Given the description of an element on the screen output the (x, y) to click on. 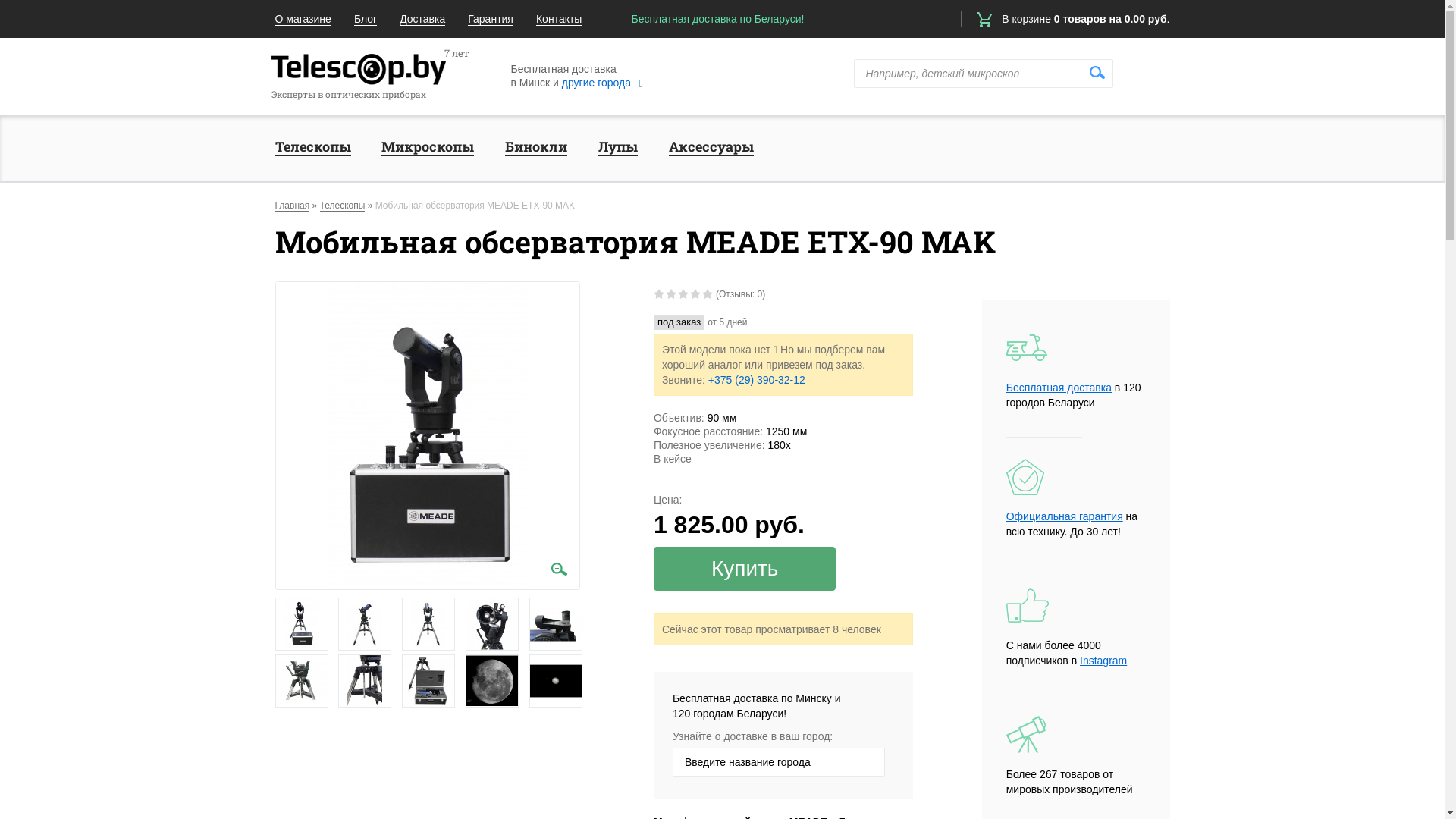
+375 (29) 390-32-12 Element type: text (756, 379)
Instagram Element type: text (1102, 660)
cart Element type: text (984, 19)
